Given the description of an element on the screen output the (x, y) to click on. 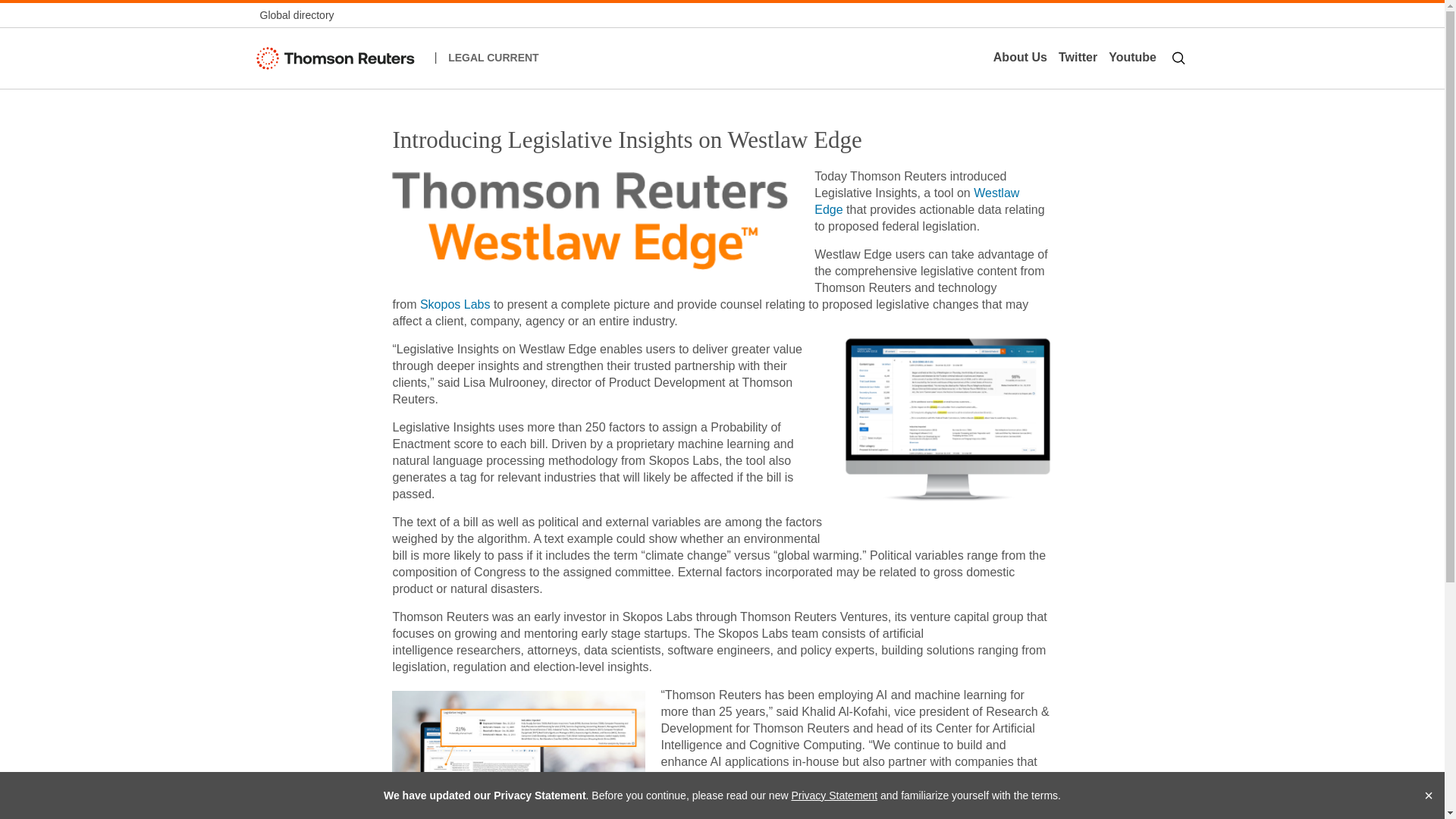
Westlaw Edge (916, 201)
Youtube (1132, 58)
LEGAL CURRENT (493, 57)
Global directory (296, 15)
Skopos Labs (455, 304)
Twitter (1077, 58)
About Us (1019, 58)
